Given the description of an element on the screen output the (x, y) to click on. 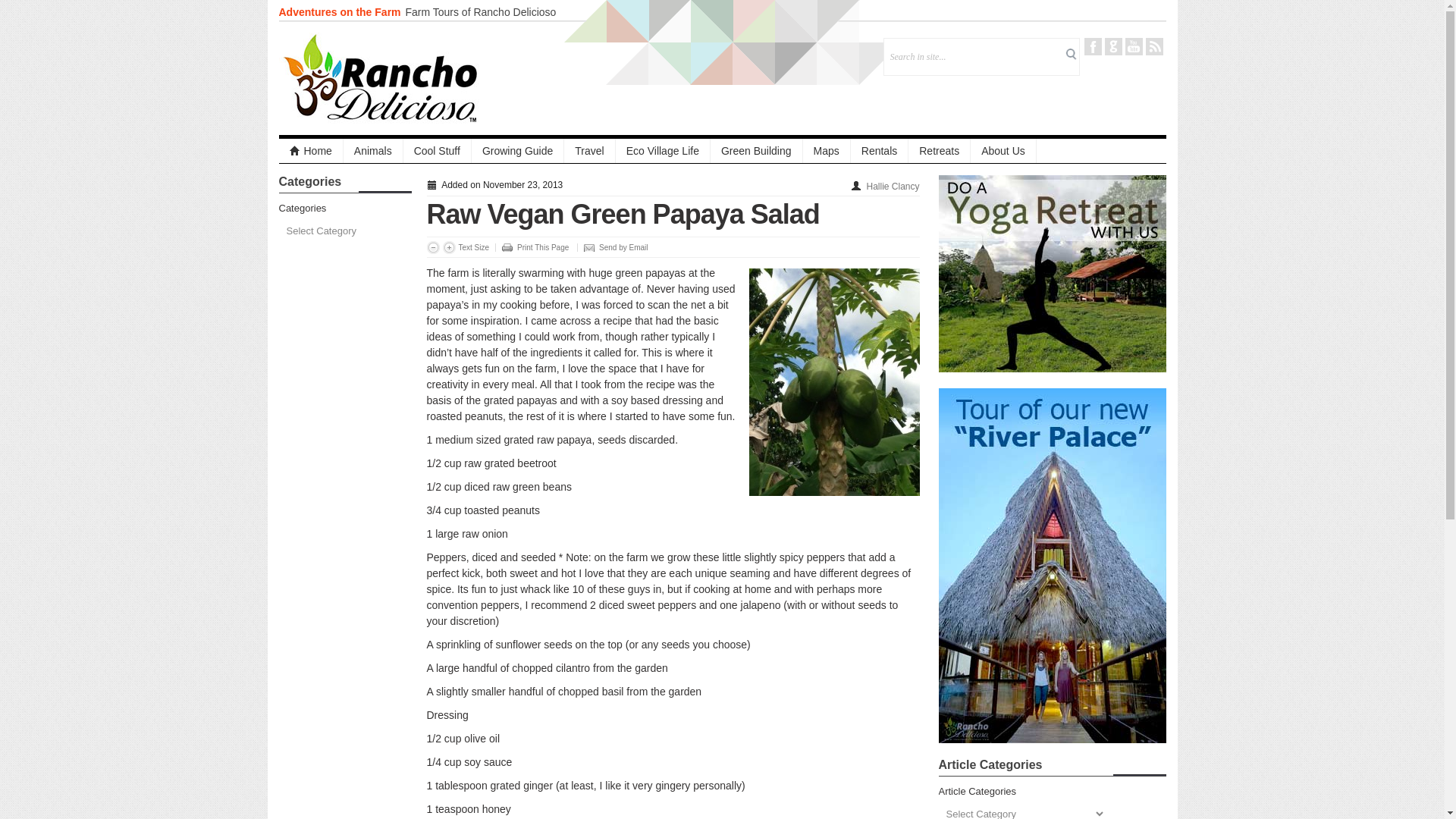
Youtube (1133, 46)
Animals (373, 150)
Cool Stuff (437, 150)
Search in site... (973, 56)
Connect on Facebook (1093, 46)
Farm Tours of Rancho Delicioso (480, 11)
Facebook (1093, 46)
Watch on Youtube (1133, 46)
Permalink to Farm Tours of Rancho Delicioso (480, 11)
Home (311, 150)
Subscribe to latest posts in RSS (1152, 46)
RSS (1152, 46)
Growing Guide (517, 150)
